Given the description of an element on the screen output the (x, y) to click on. 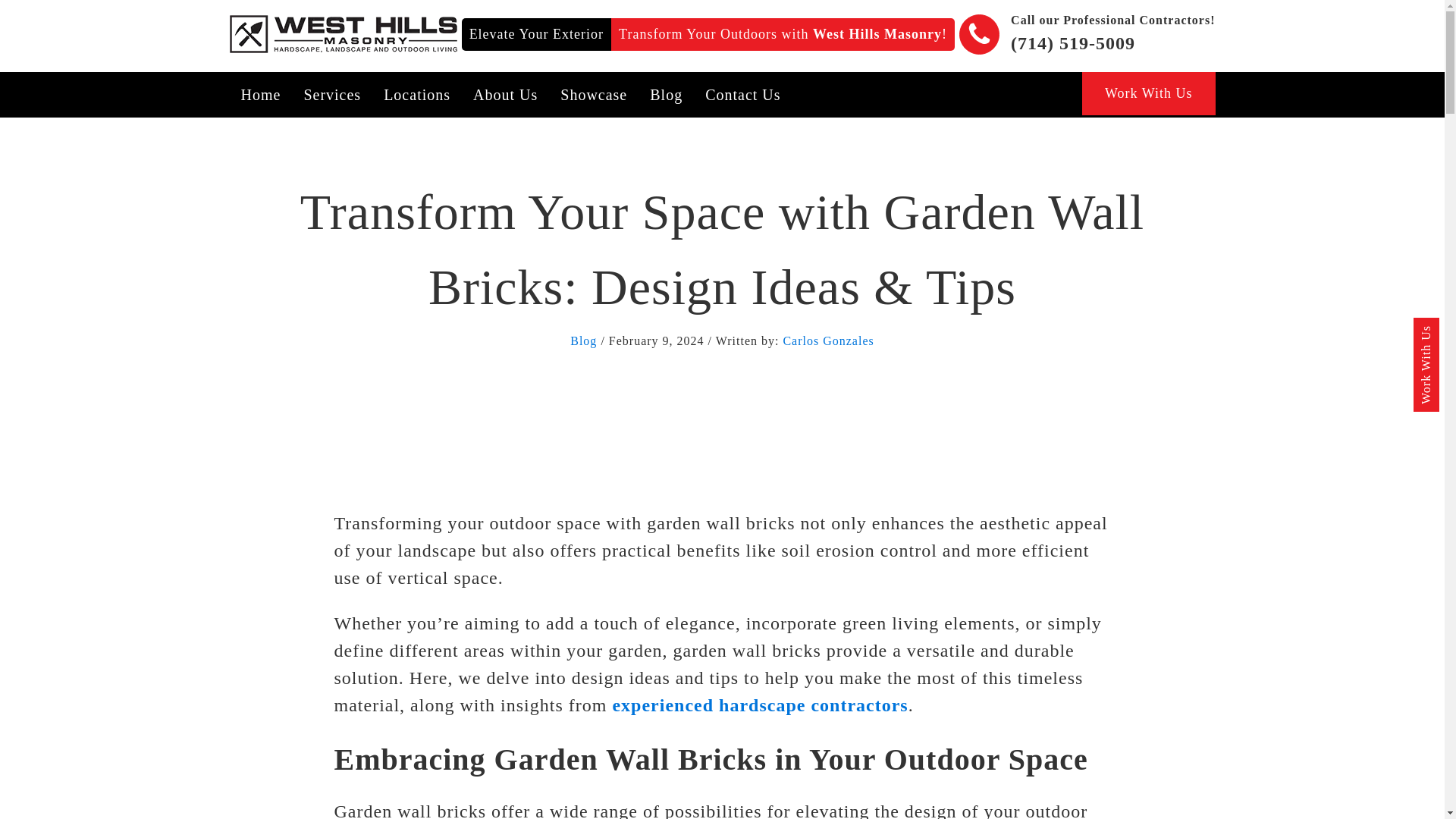
Home (260, 94)
experienced hardscape contractors (759, 704)
Services (332, 94)
Carlos Gonzales (828, 340)
About Us (504, 94)
Showcase (593, 94)
Locations (416, 94)
Contact Us (743, 94)
Blog (666, 94)
Blog (583, 340)
